Given the description of an element on the screen output the (x, y) to click on. 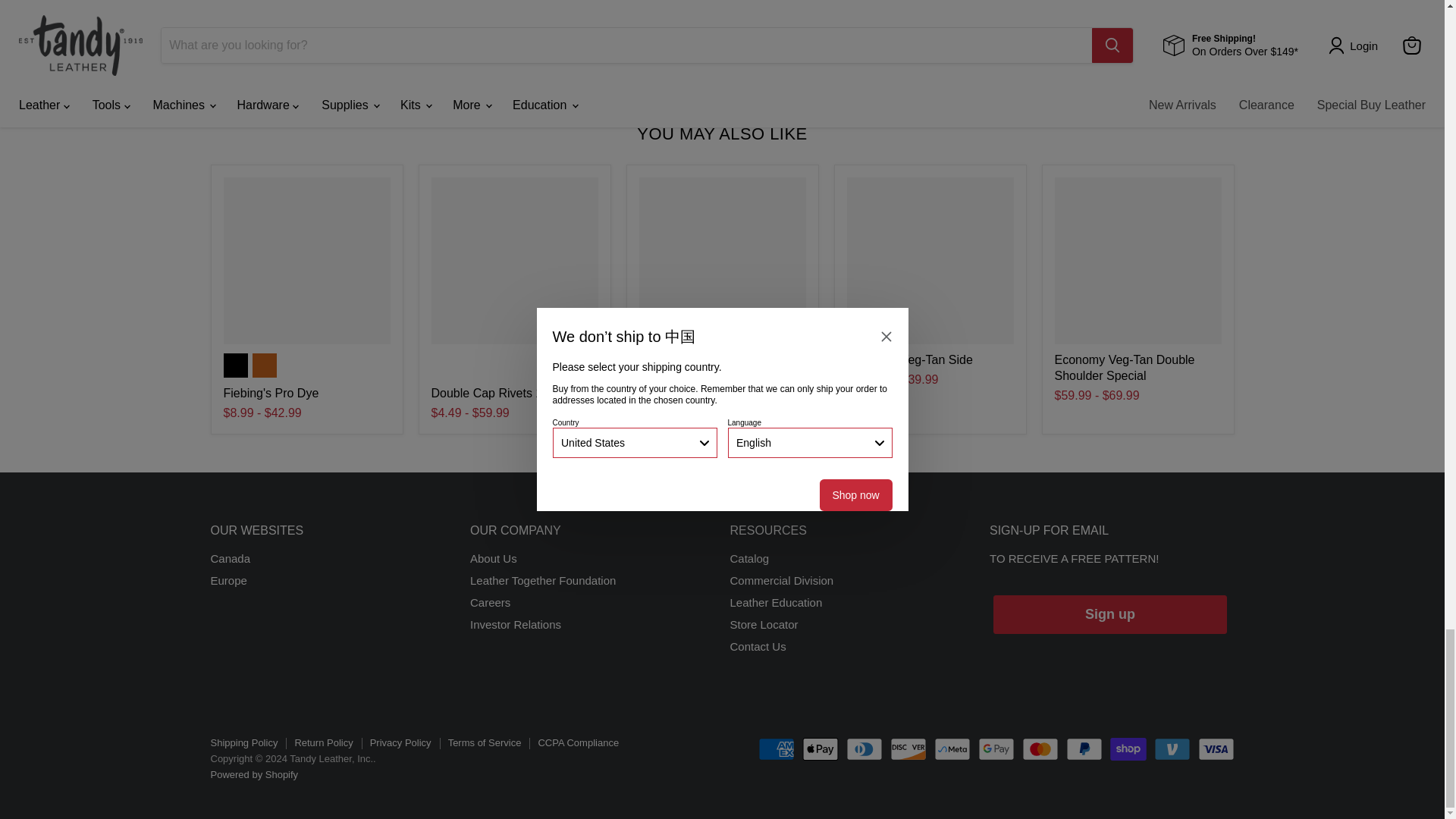
American Express (776, 748)
Apple Pay (820, 748)
Diners Club (863, 748)
